Given the description of an element on the screen output the (x, y) to click on. 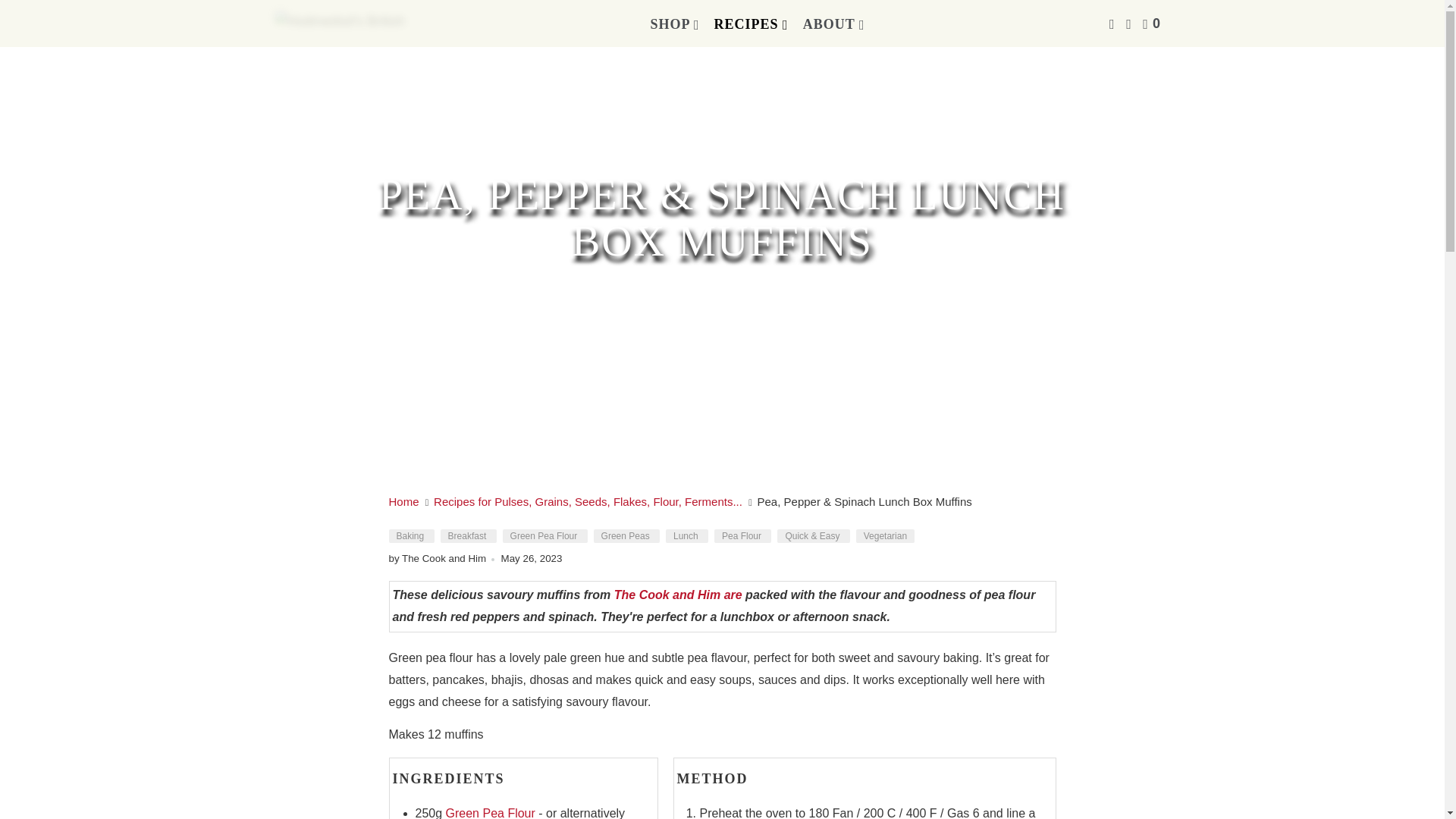
Hodmedod's British Wholefoods (342, 23)
Hodmedod's British Wholefoods (405, 501)
